Given the description of an element on the screen output the (x, y) to click on. 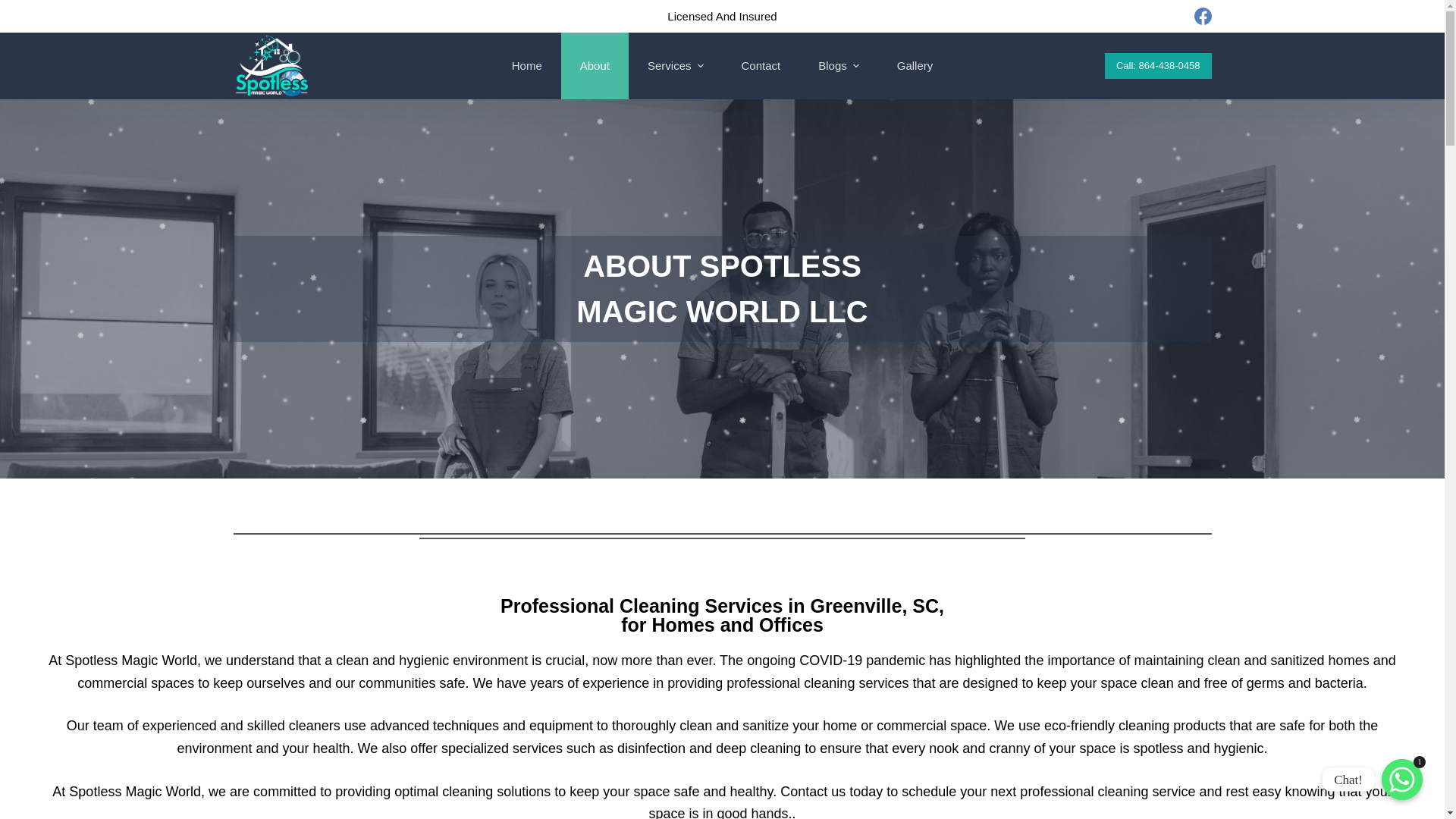
Skip to content (15, 7)
Services (675, 65)
Home (526, 65)
Spotless Magic World ff-01 (272, 65)
About (594, 65)
Contact (760, 65)
